Given the description of an element on the screen output the (x, y) to click on. 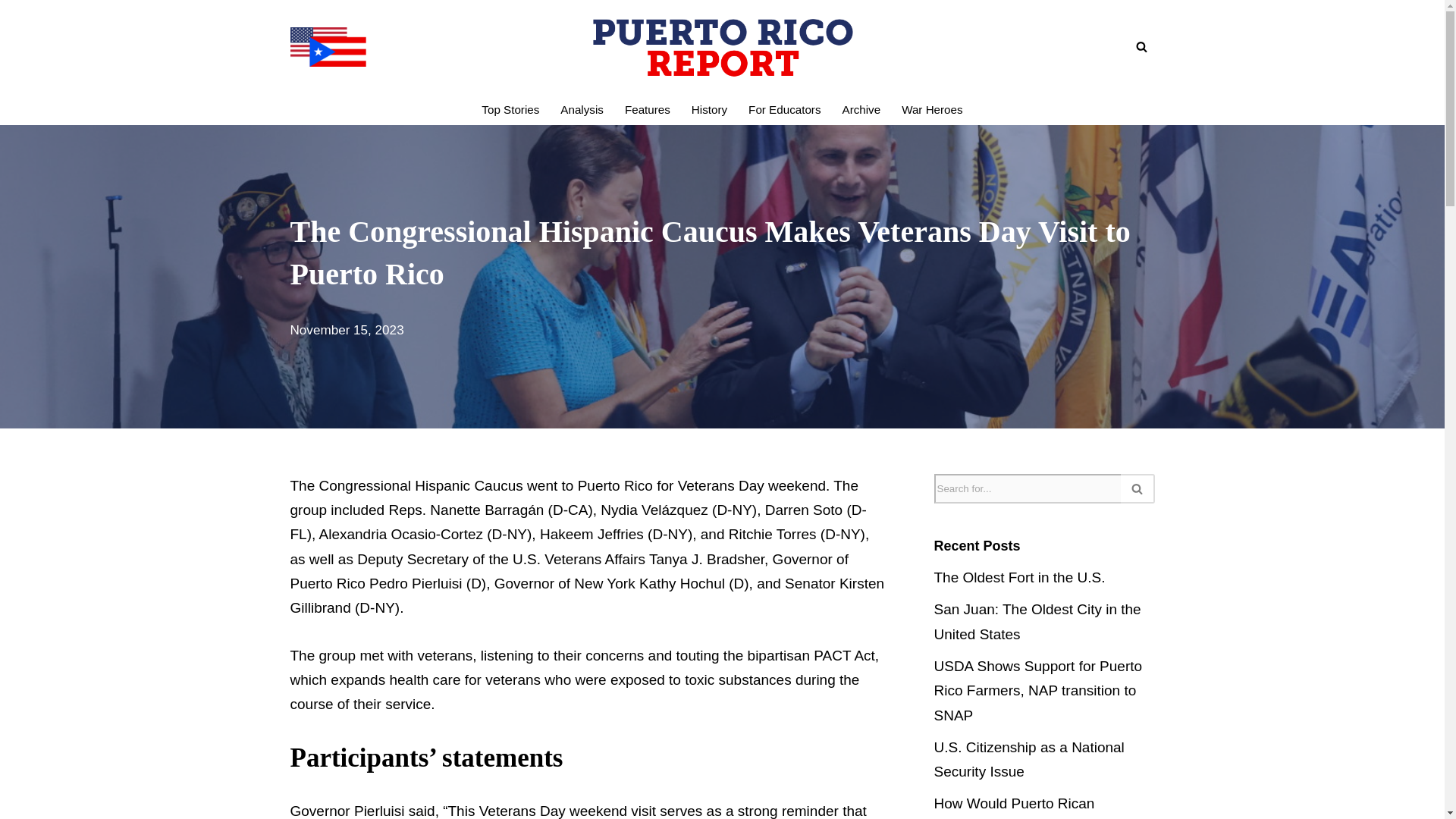
Features (646, 108)
War Heroes (931, 108)
Archive (860, 108)
Analysis (582, 108)
For Educators (784, 108)
History (708, 108)
Skip to content (11, 31)
Top Stories (509, 108)
